Given the description of an element on the screen output the (x, y) to click on. 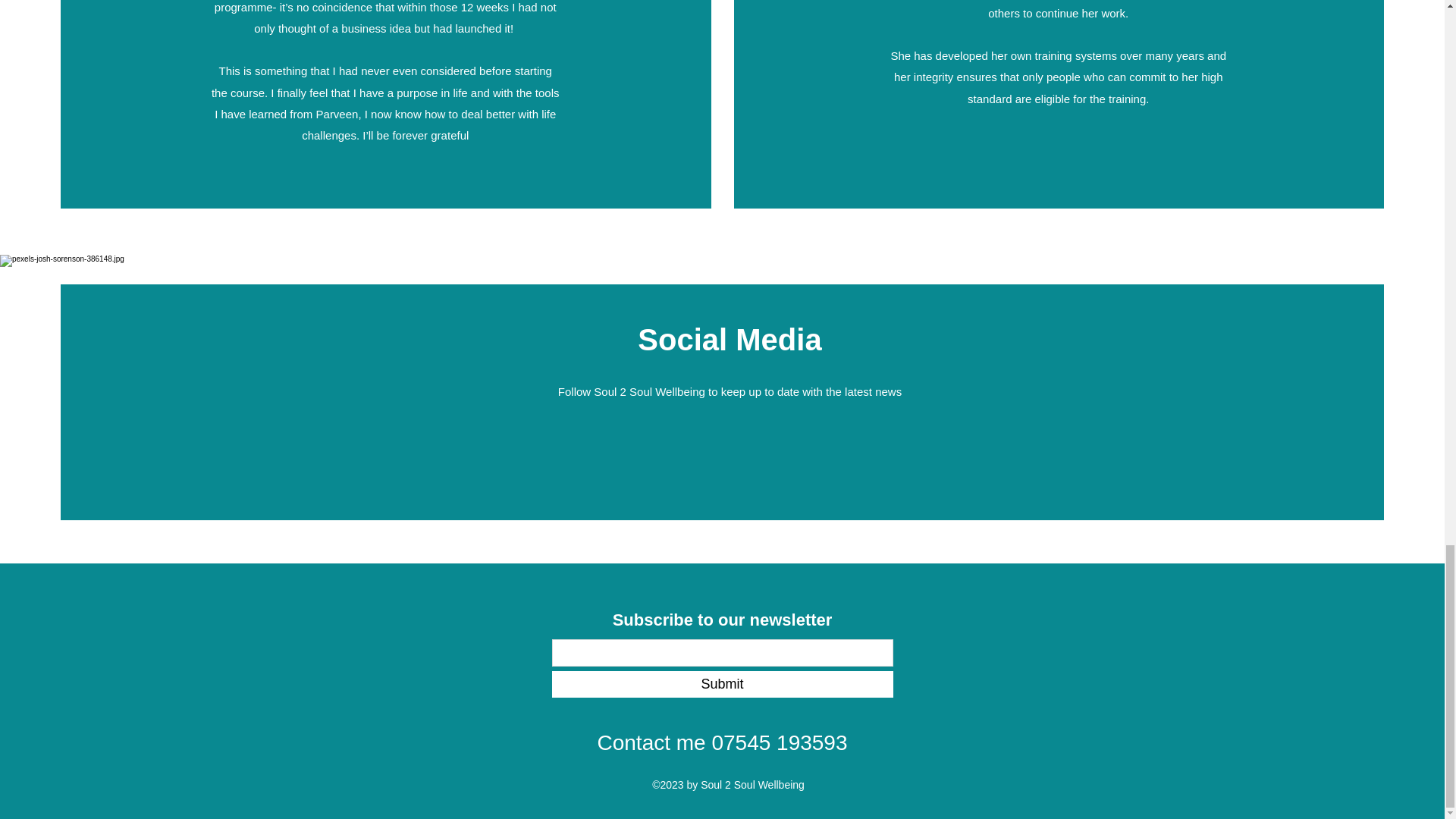
Submit (722, 683)
